Given the description of an element on the screen output the (x, y) to click on. 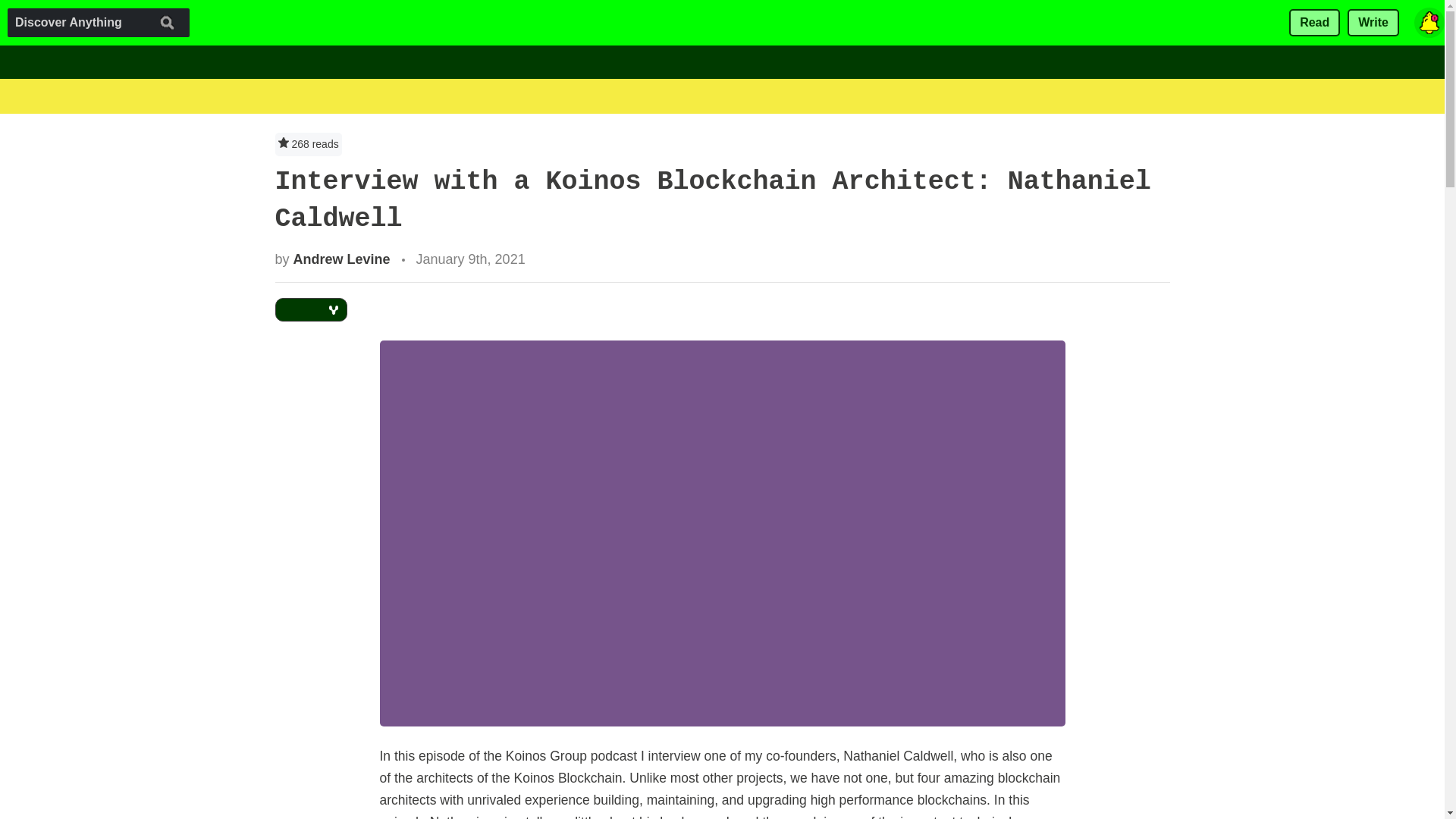
Write (1373, 22)
Andrew Levine (342, 258)
Read (1313, 22)
